Given the description of an element on the screen output the (x, y) to click on. 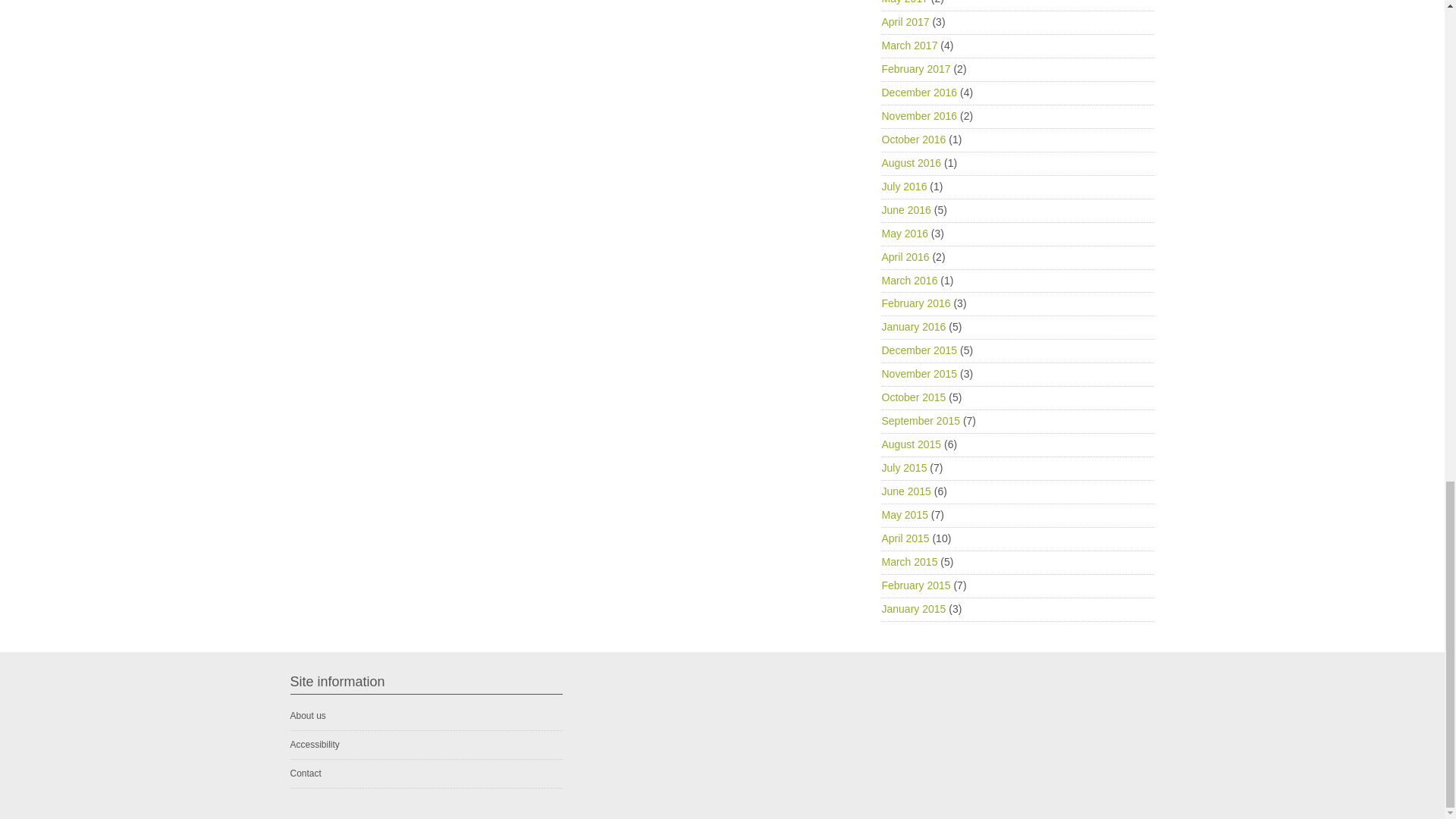
About us (306, 715)
Accessibility (314, 744)
Contact (304, 773)
